Given the description of an element on the screen output the (x, y) to click on. 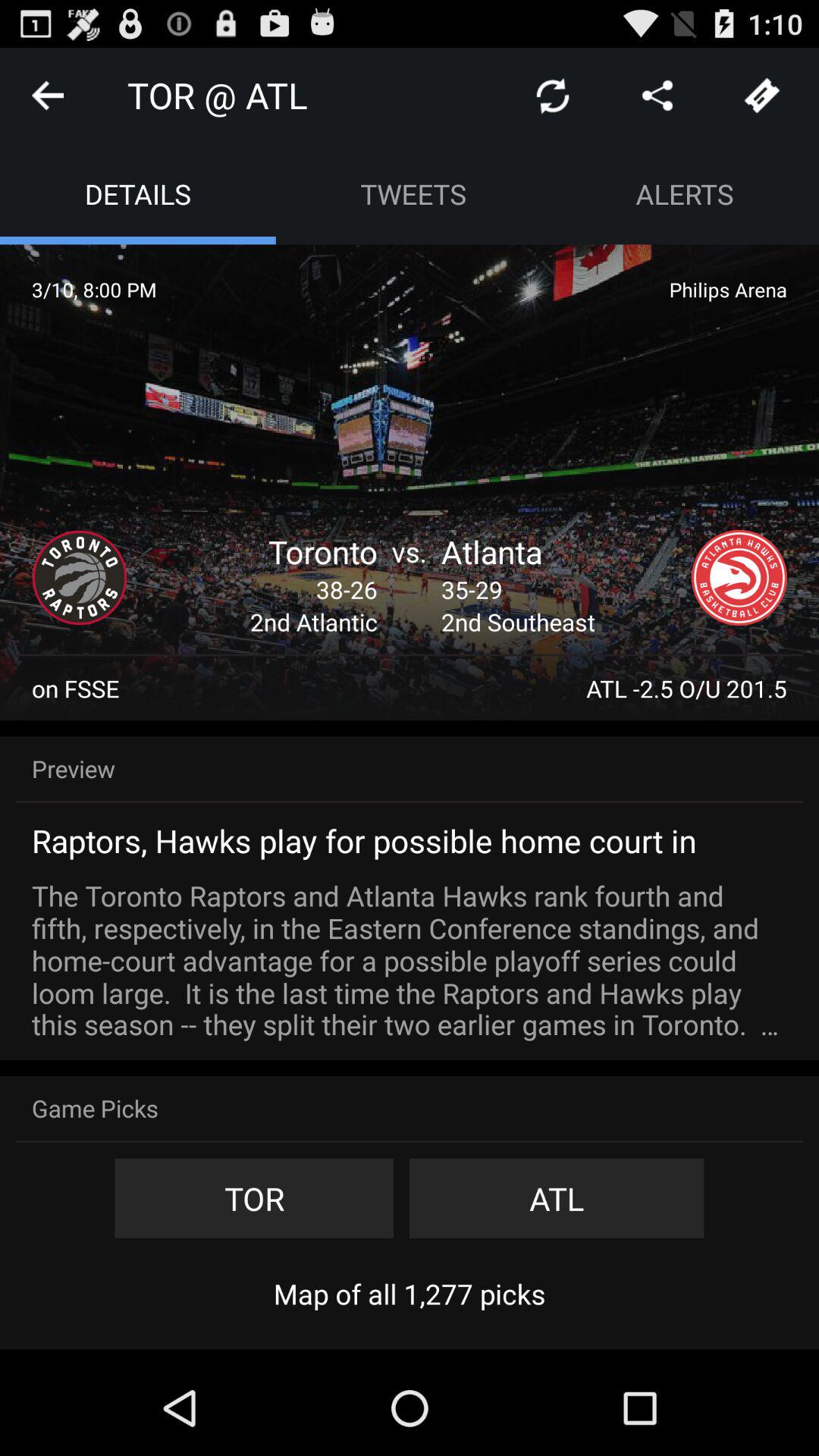
turn off map of all item (409, 1293)
